Given the description of an element on the screen output the (x, y) to click on. 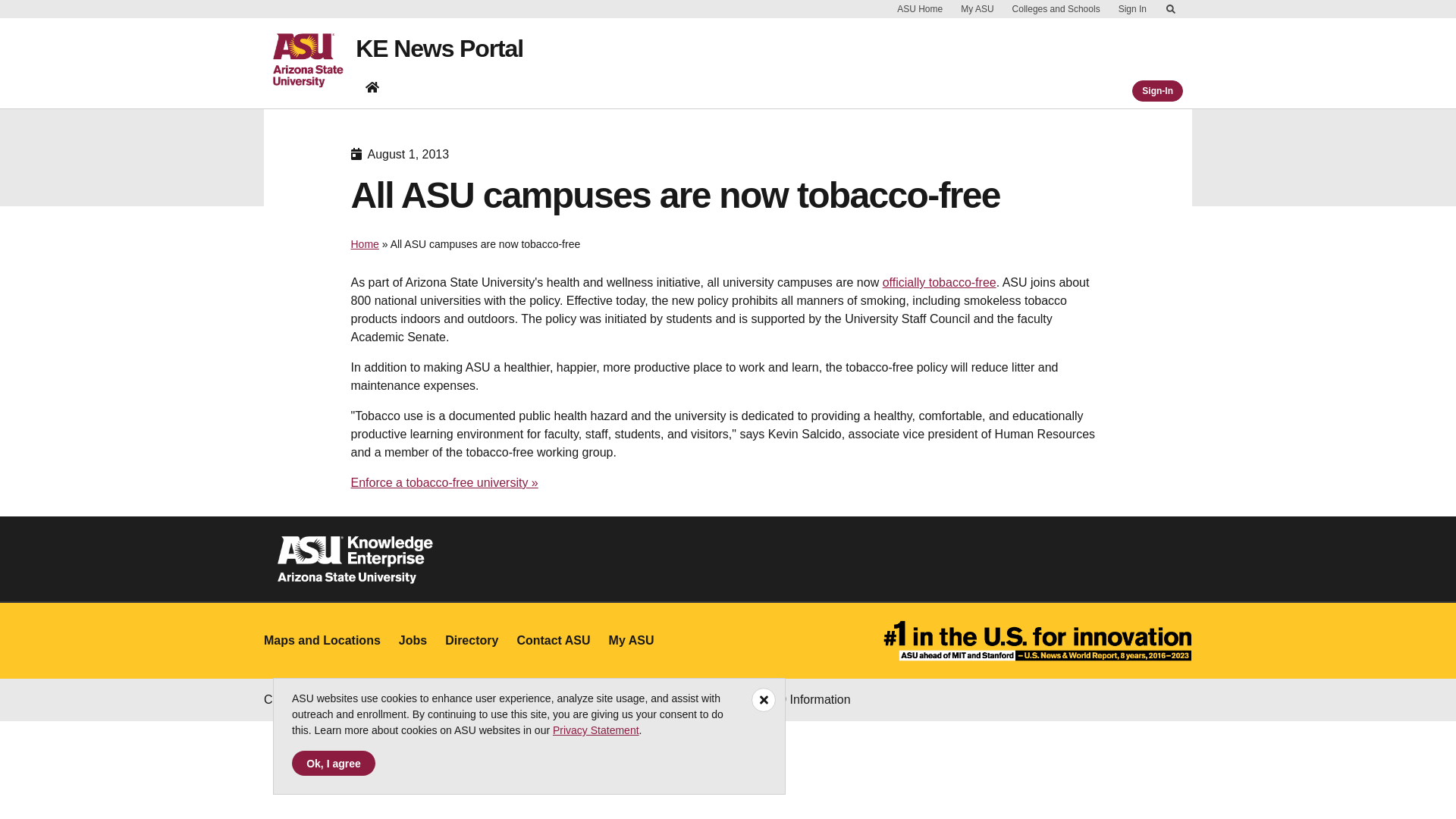
Sign-In (1157, 90)
Home (364, 244)
KE News Portal home (371, 90)
Sign In (1132, 8)
KE News Portal home (372, 87)
My ASU (976, 8)
ASU Home (920, 8)
ASU home (314, 60)
Colleges and Schools (1056, 8)
officially tobacco-free (938, 282)
Skip to Content (1170, 8)
KE News Portal home (372, 87)
